Given the description of an element on the screen output the (x, y) to click on. 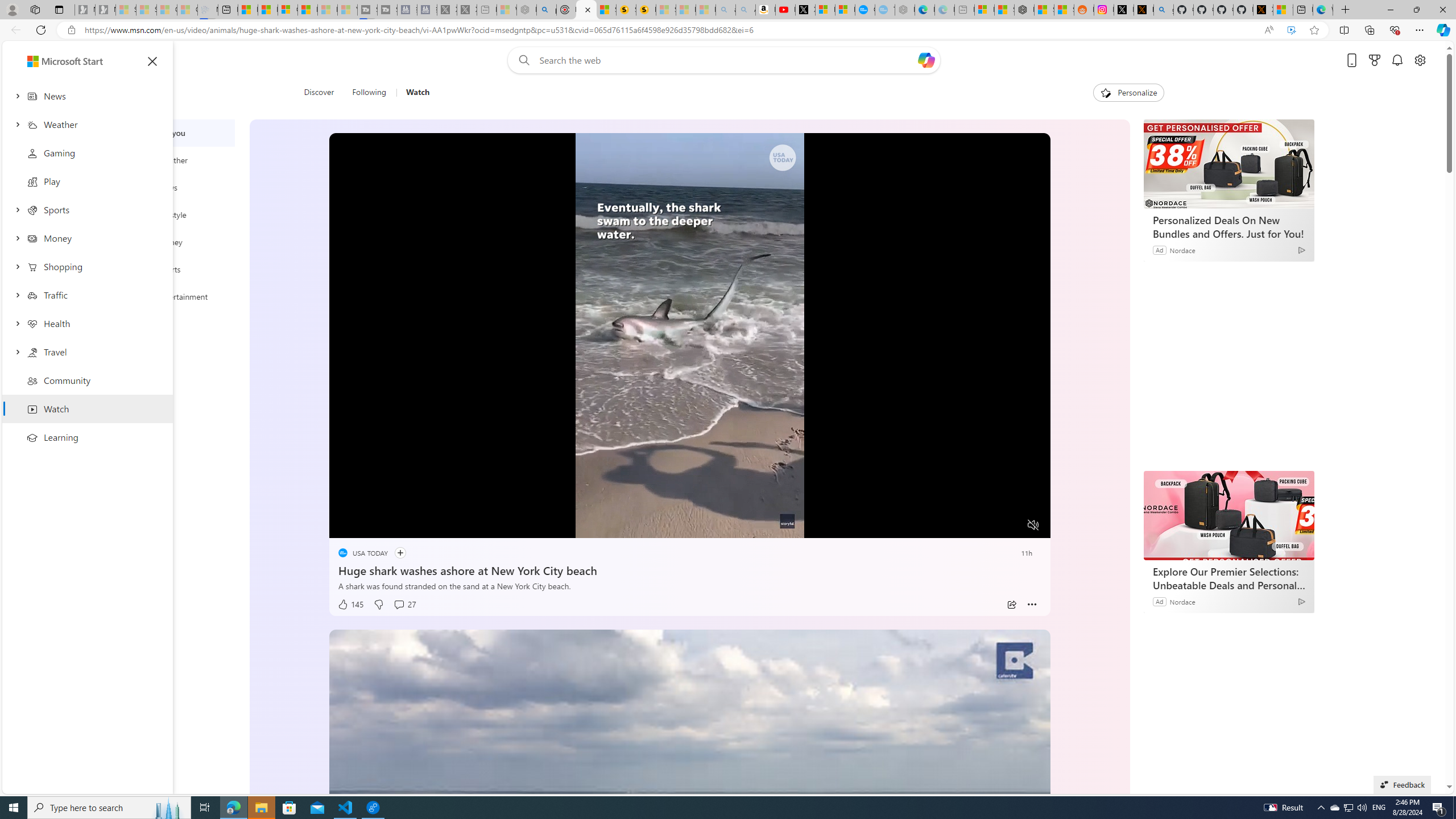
Open settings (1420, 60)
Progress Bar (689, 510)
X (804, 9)
Personalize (1128, 92)
Enter your search term (726, 59)
145 Like (349, 604)
